Given the description of an element on the screen output the (x, y) to click on. 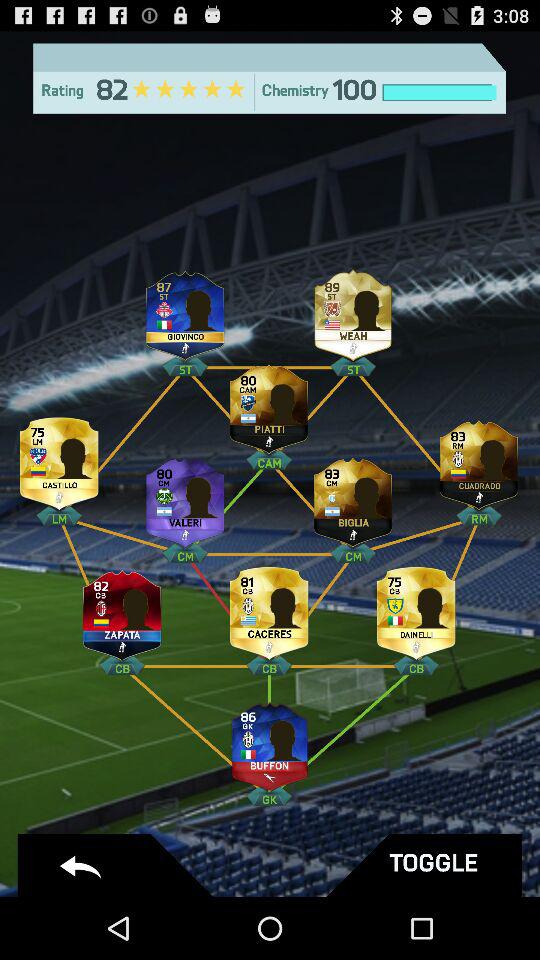
see player information (269, 609)
